Given the description of an element on the screen output the (x, y) to click on. 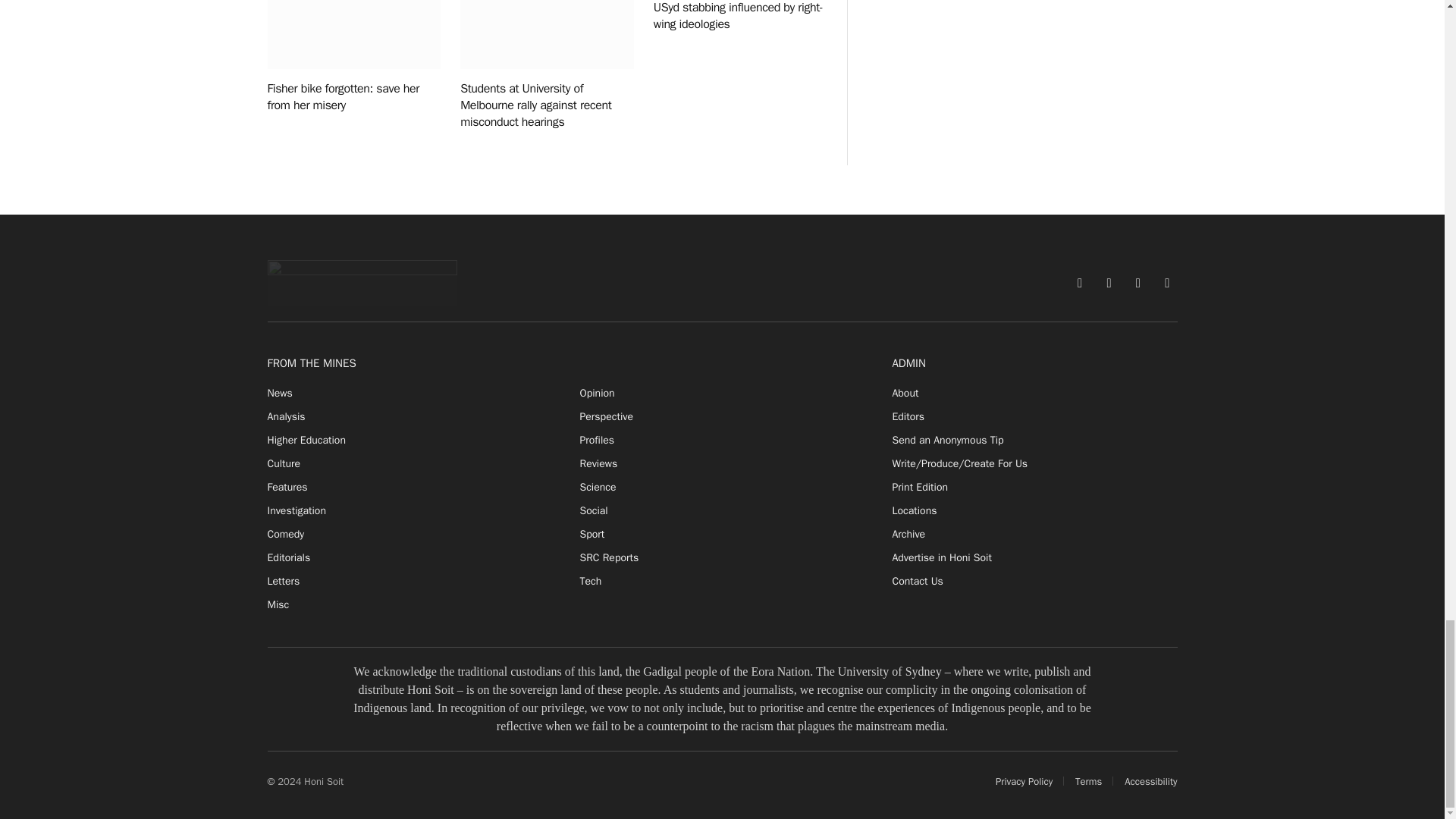
Fisher bike forgotten: save her from her misery (353, 34)
